Given the description of an element on the screen output the (x, y) to click on. 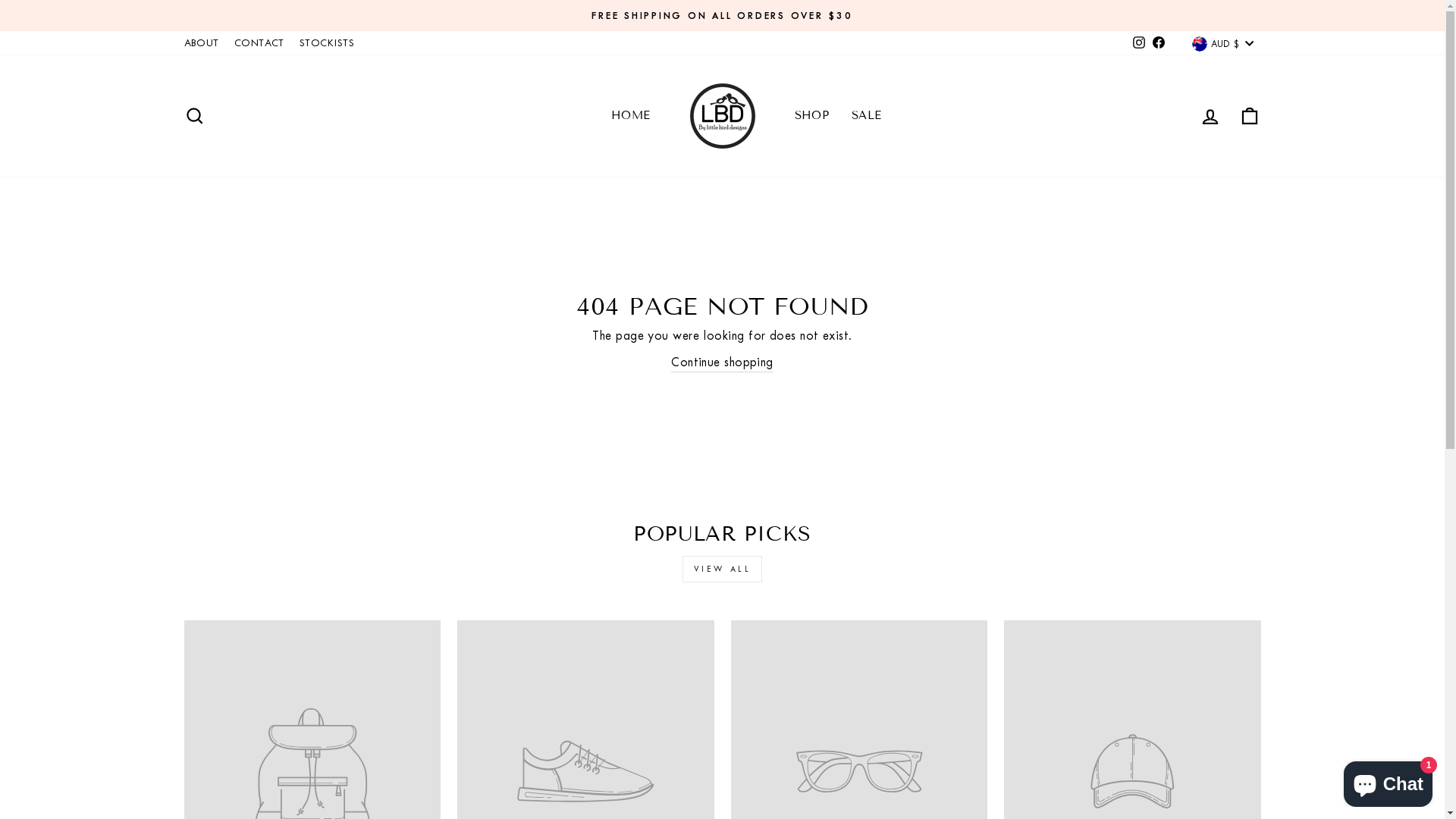
Skip to content Element type: text (0, 0)
LOG IN Element type: text (1210, 115)
HOME Element type: text (630, 115)
SHOP Element type: text (811, 115)
SEARCH Element type: text (193, 115)
SALE Element type: text (866, 115)
ABOUT Element type: text (200, 42)
CART Element type: text (1249, 115)
Instagram Element type: text (1138, 42)
Continue shopping Element type: text (722, 362)
STOCKISTS Element type: text (326, 42)
CONTACT Element type: text (258, 42)
VIEW ALL Element type: text (722, 568)
Facebook Element type: text (1158, 42)
Shopify online store chat Element type: hover (1388, 780)
AUD $ Element type: text (1222, 43)
